Given the description of an element on the screen output the (x, y) to click on. 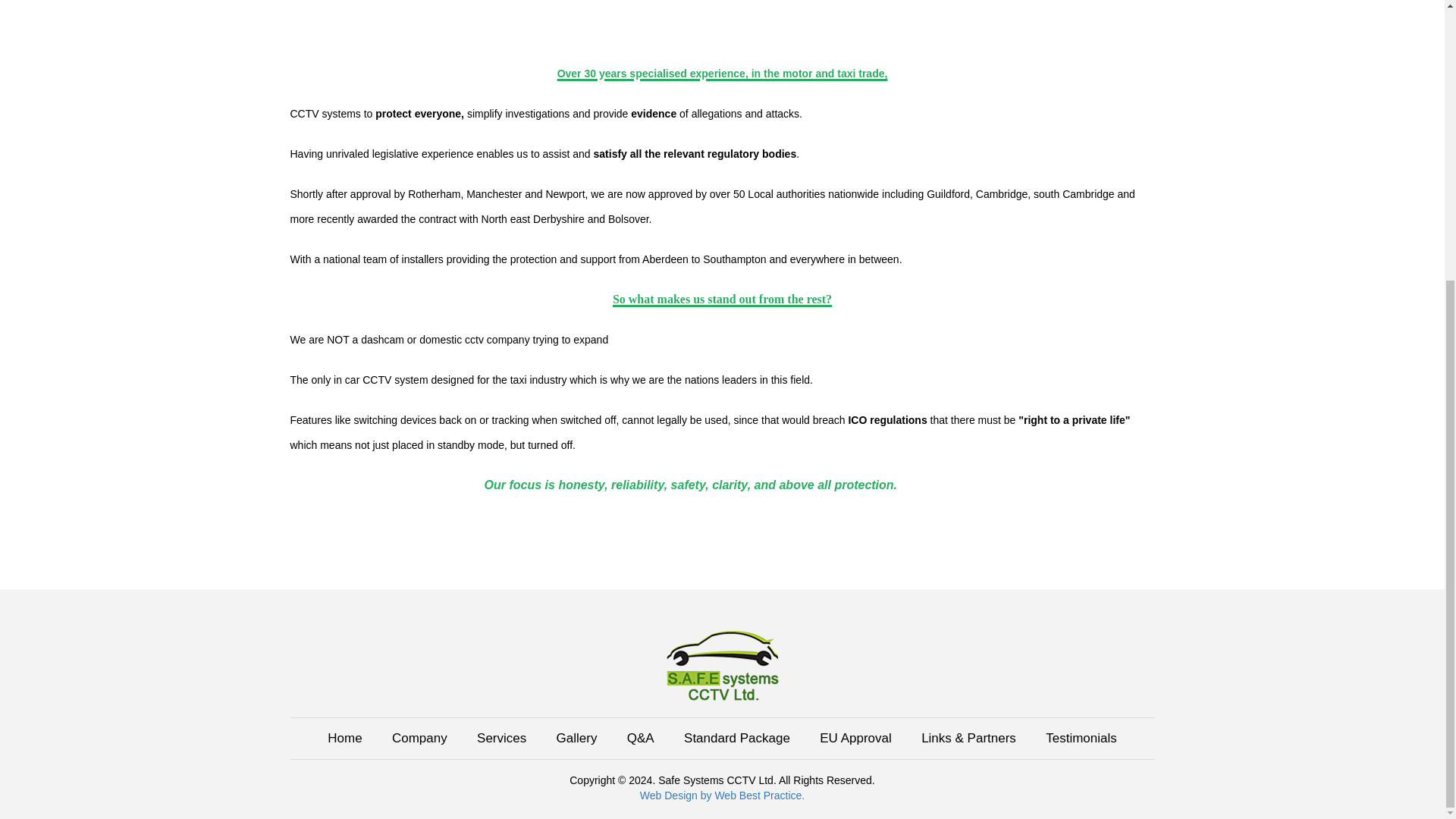
Gallery (576, 738)
Web Design by Web Best Practice. (722, 795)
Standard Package (737, 738)
EU Approval (855, 738)
Company (418, 738)
Services (501, 738)
Testimonials (1080, 738)
Home (344, 738)
